Given the description of an element on the screen output the (x, y) to click on. 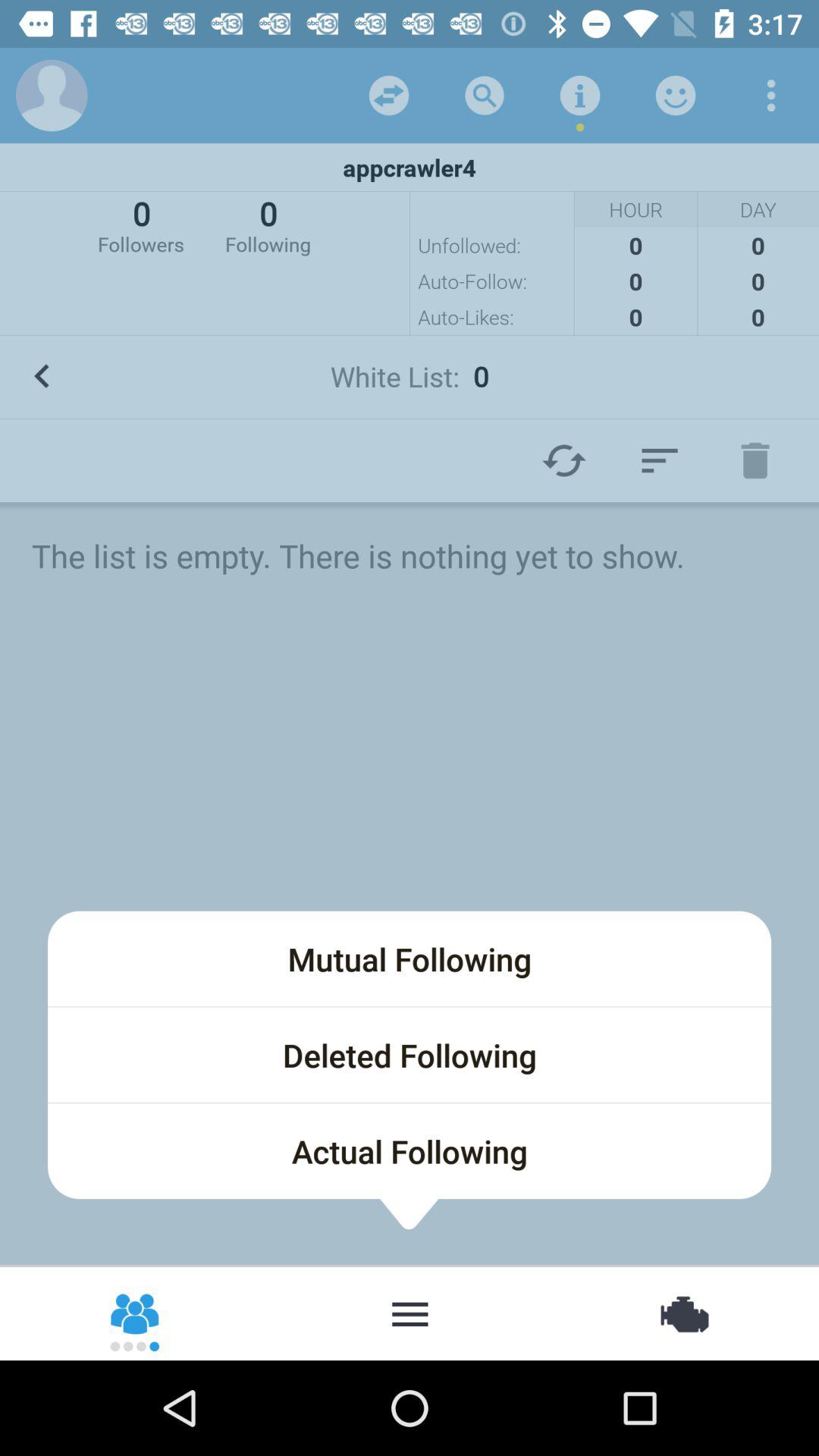
open menu (409, 1312)
